Given the description of an element on the screen output the (x, y) to click on. 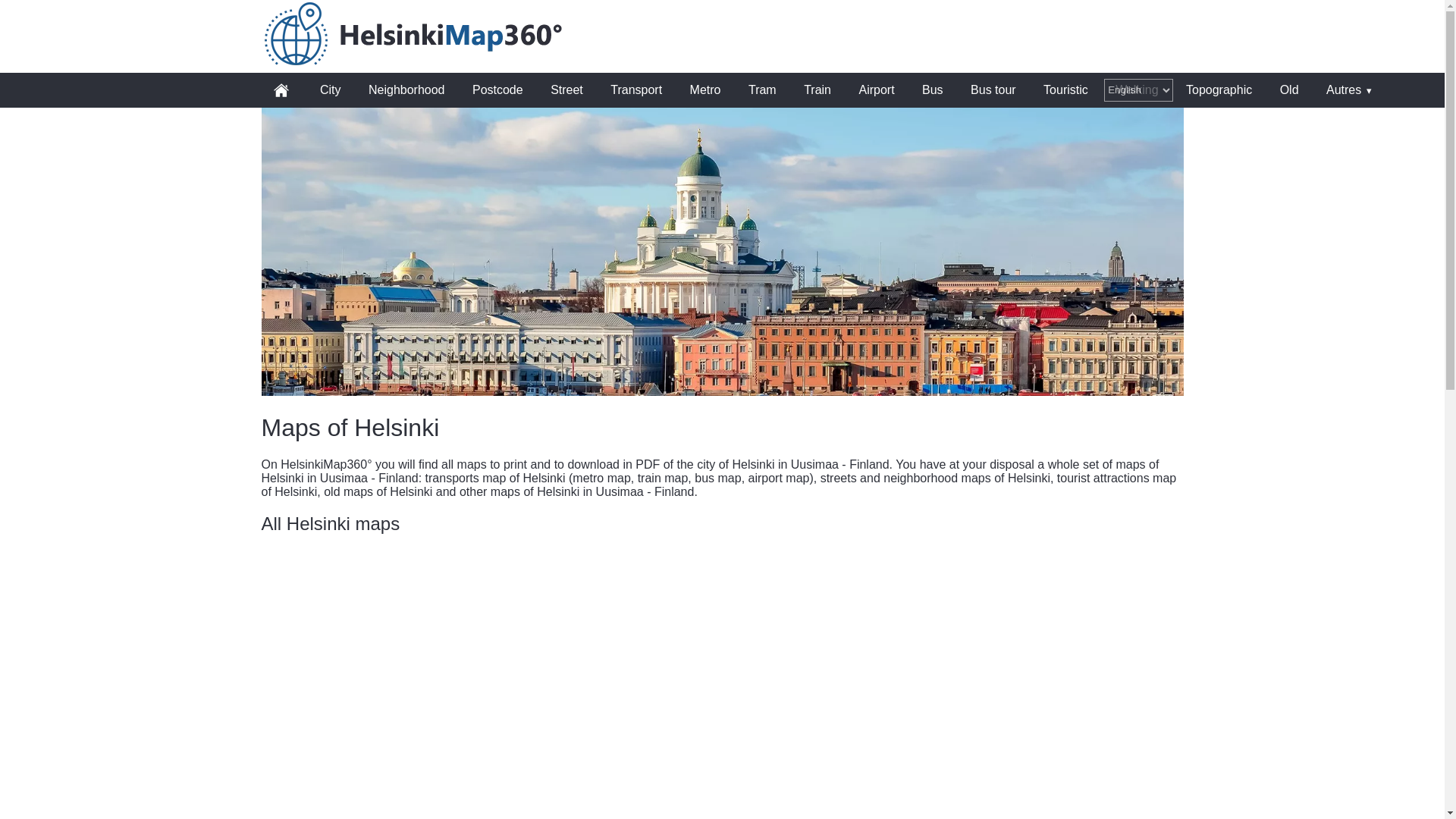
Street (566, 90)
Neighborhood (720, 636)
Walking (1136, 90)
Train (817, 90)
Topographic (1218, 90)
Tram (762, 90)
Helsinki neighborhoods map (720, 636)
City (330, 90)
Postcode (497, 90)
Bus (932, 90)
